Given the description of an element on the screen output the (x, y) to click on. 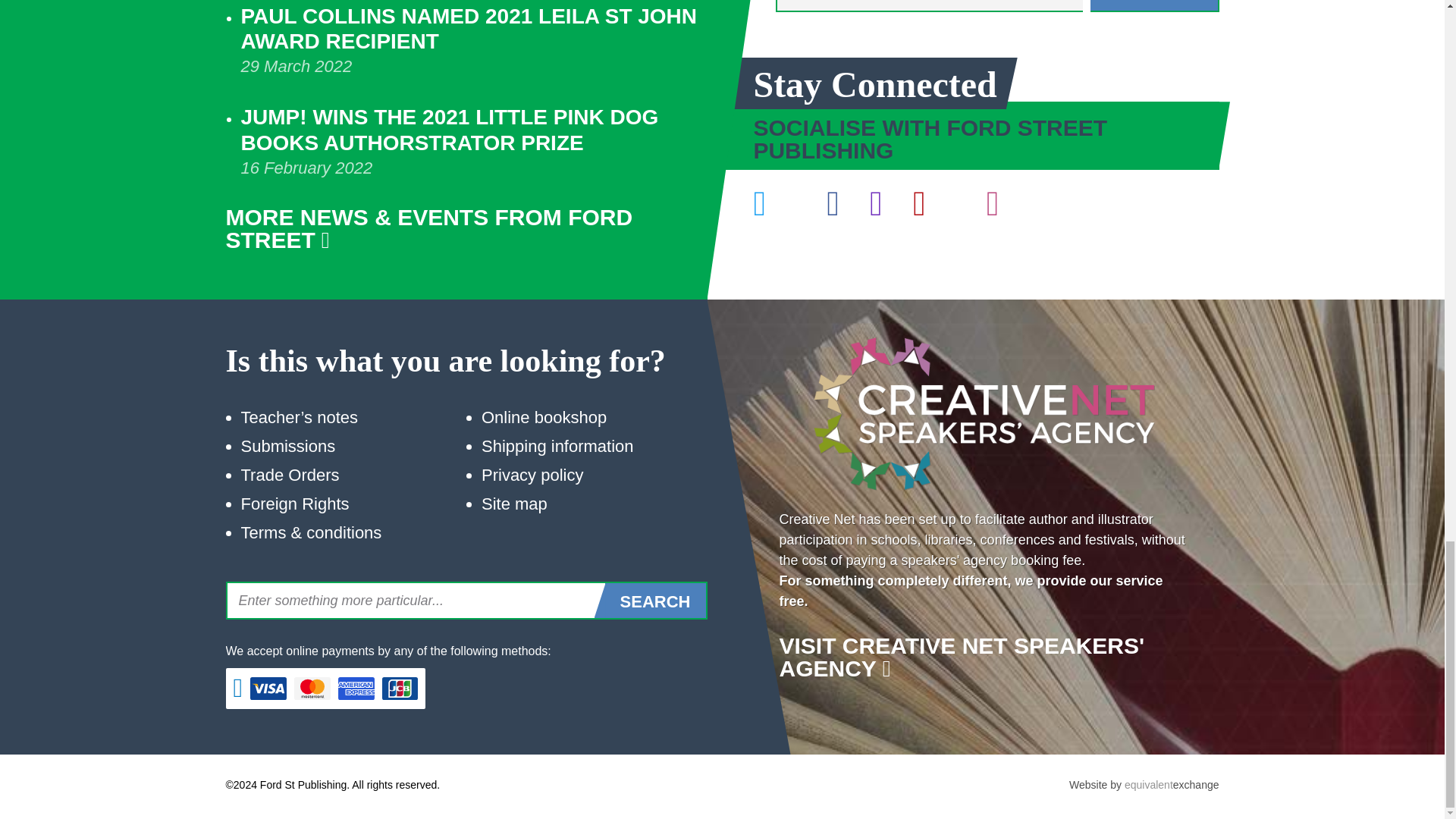
Subscribe (1155, 6)
